Given the description of an element on the screen output the (x, y) to click on. 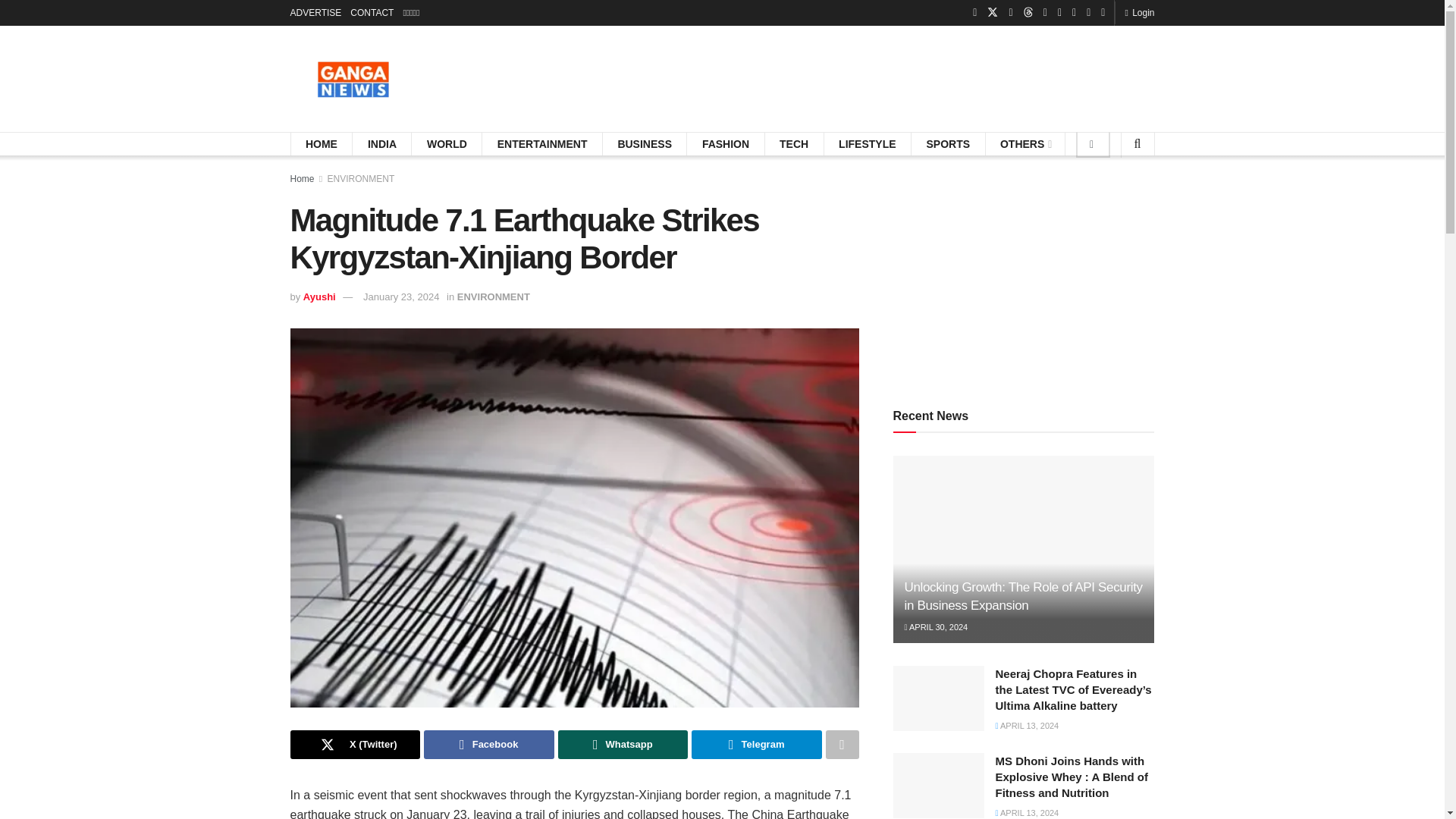
TECH (793, 143)
SPORTS (947, 143)
HOME (321, 143)
ENTERTAINMENT (542, 143)
OTHERS (1024, 143)
CONTACT (371, 12)
BUSINESS (644, 143)
WORLD (446, 143)
INDIA (382, 143)
LIFESTYLE (866, 143)
FASHION (725, 143)
Login (1139, 12)
ADVERTISE (314, 12)
